Given the description of an element on the screen output the (x, y) to click on. 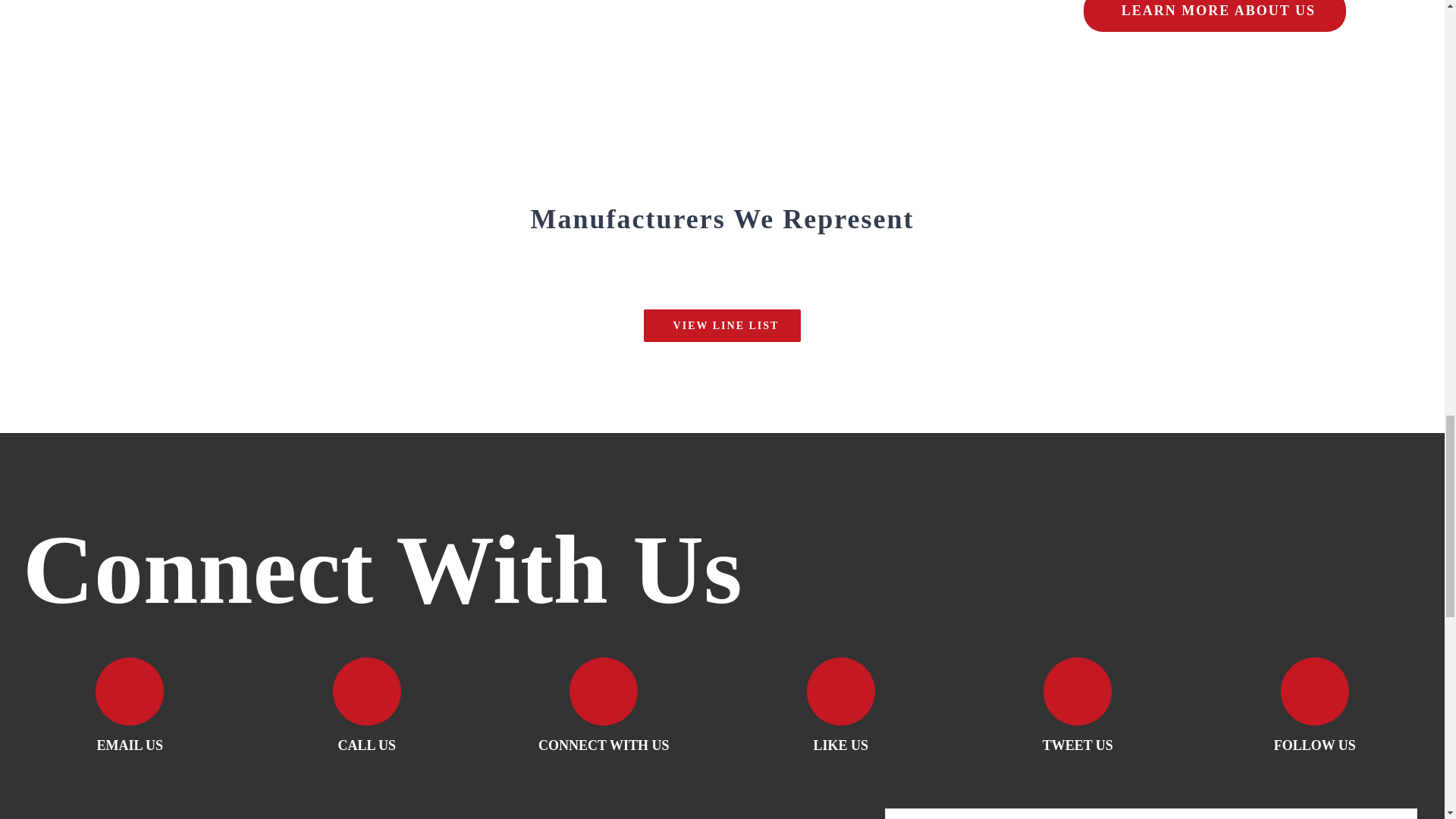
LEARN MORE ABOUT US (1214, 15)
